Given the description of an element on the screen output the (x, y) to click on. 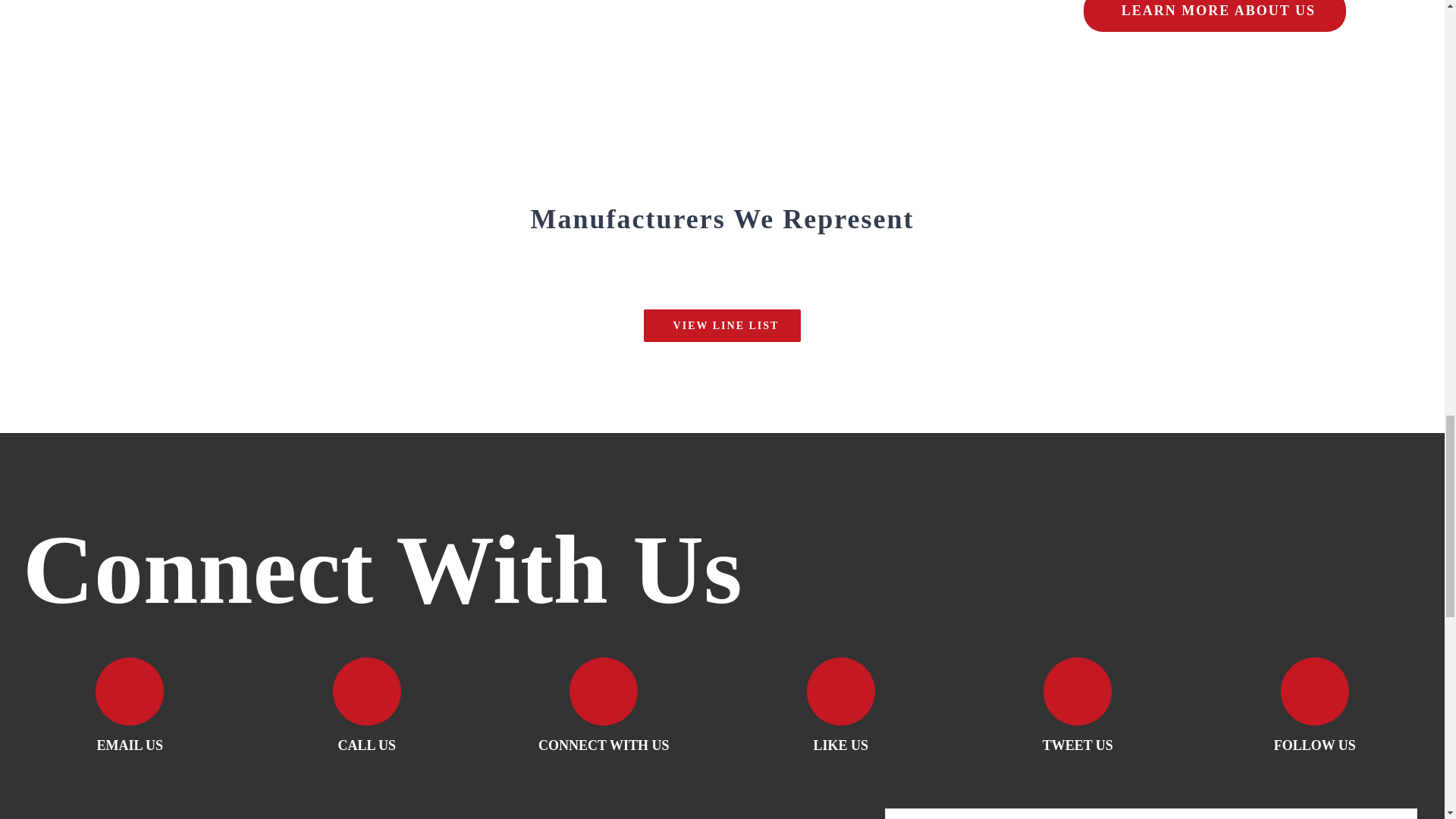
LEARN MORE ABOUT US (1214, 15)
